Given the description of an element on the screen output the (x, y) to click on. 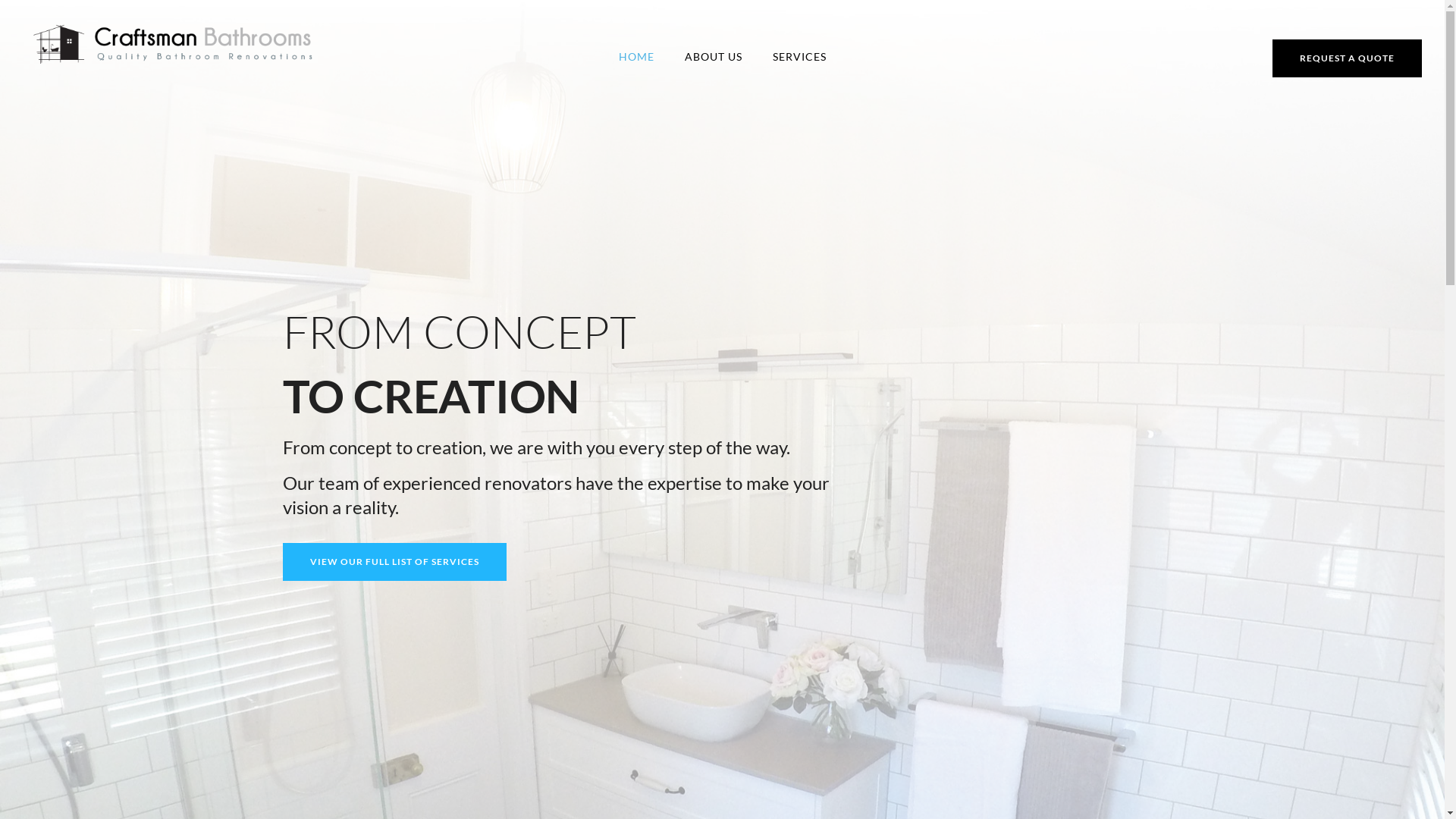
SERVICES Element type: text (798, 56)
HOME Element type: text (636, 56)
REQUEST A QUOTE Element type: text (1346, 58)
ABOUT US Element type: text (712, 56)
VIEW OUR FULL LIST OF SERVICES Element type: text (393, 561)
